Given the description of an element on the screen output the (x, y) to click on. 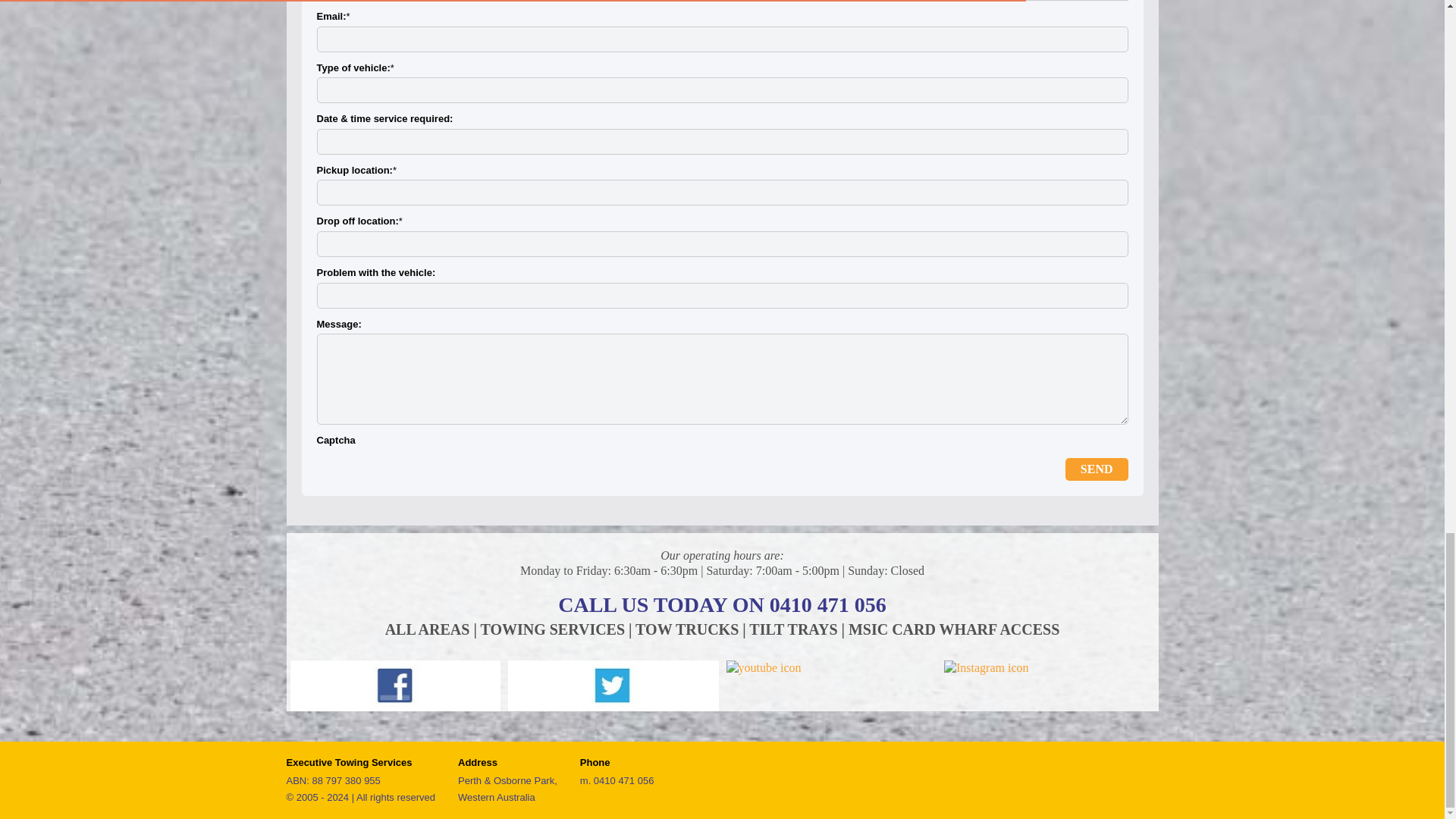
0410 471 056 (623, 780)
SEND (1096, 468)
SEND (1096, 468)
0410 471 056 (828, 604)
